Given the description of an element on the screen output the (x, y) to click on. 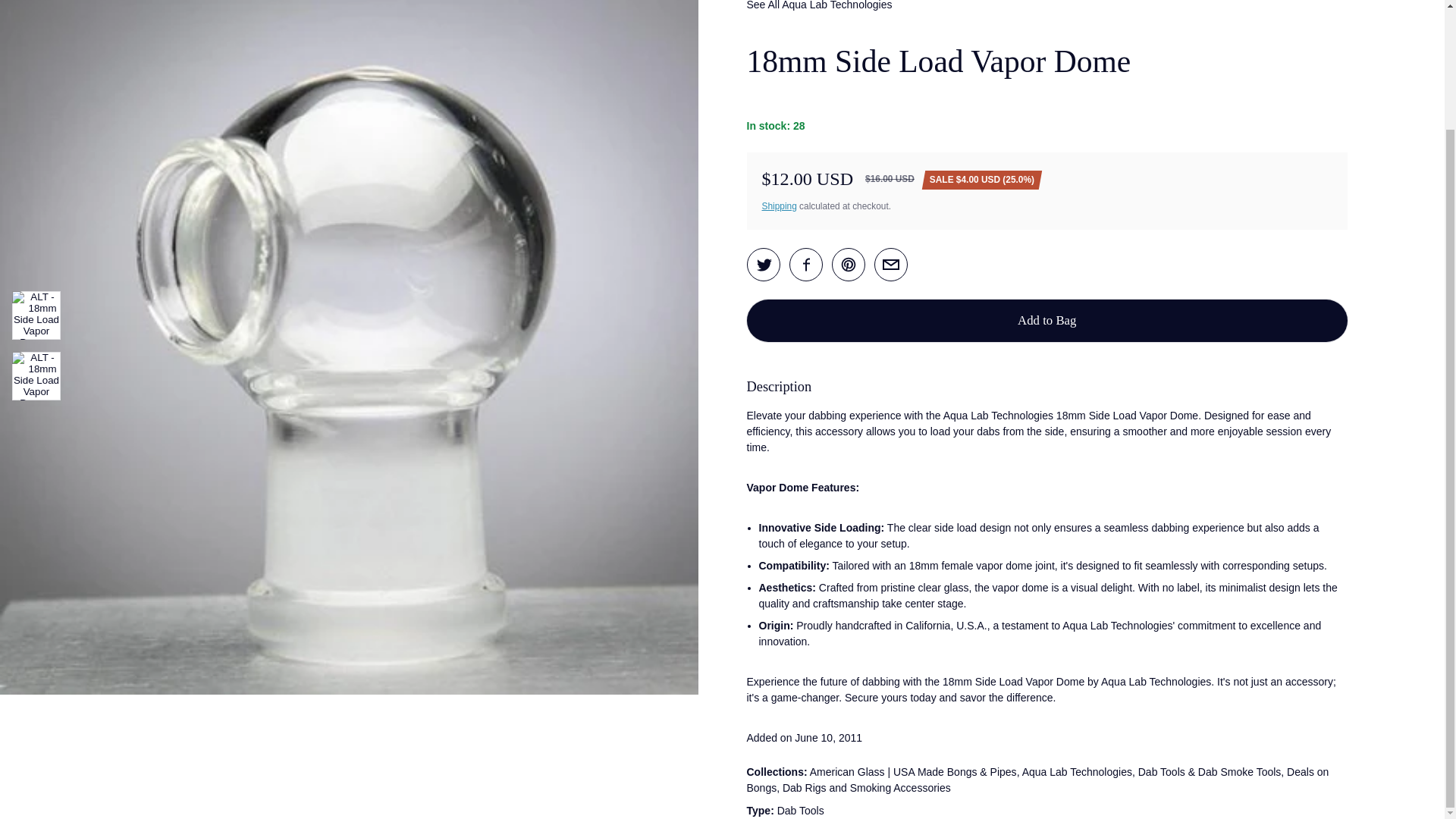
Facebook (804, 264)
18mm Side Load Vapor Dome (889, 264)
Pinterest (847, 264)
Aqua Lab Technologies (1077, 771)
Twitter (762, 264)
Deals on Bongs, Dab Rigs and Smoking Accessories (1036, 779)
